Given the description of an element on the screen output the (x, y) to click on. 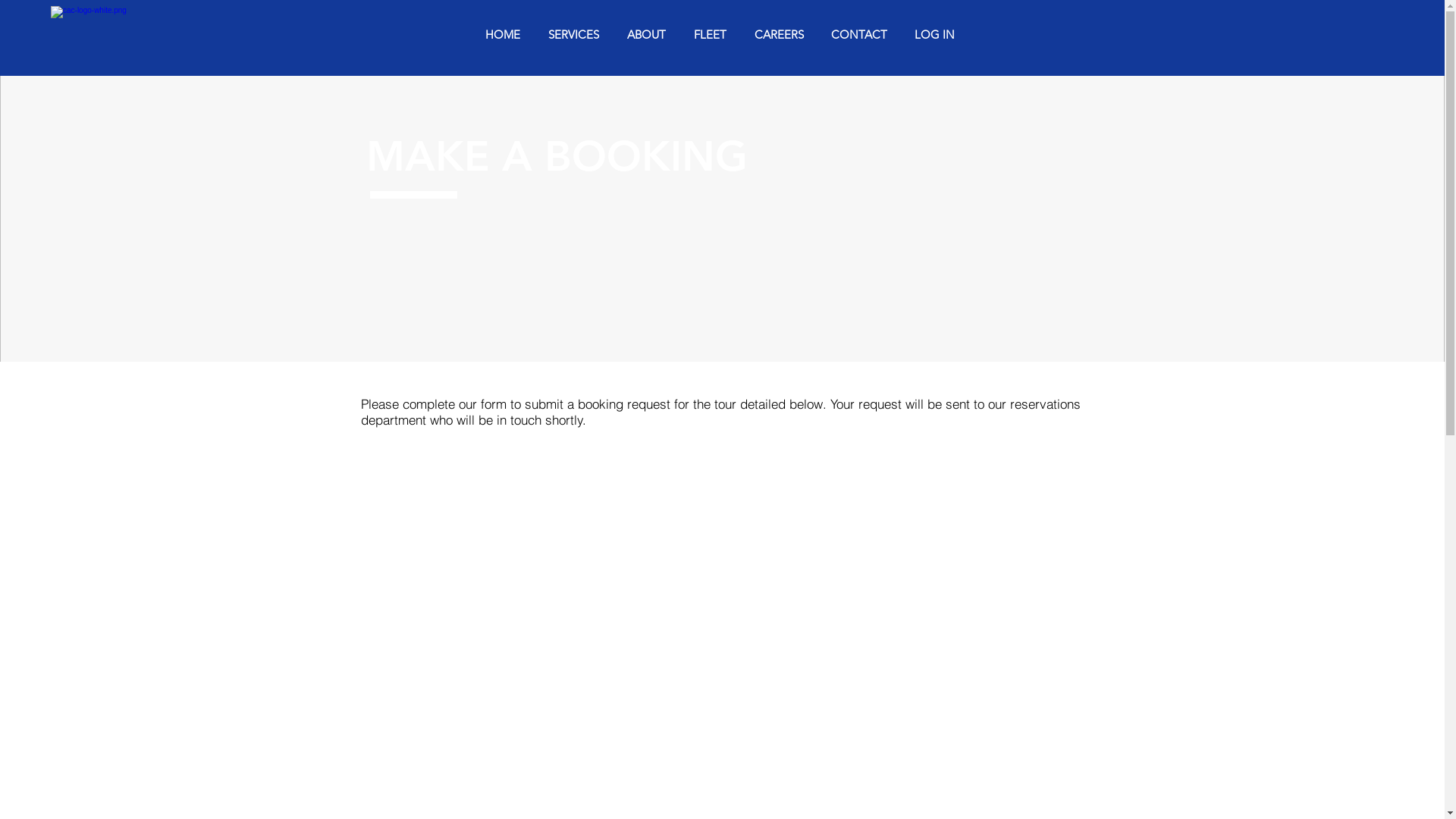
FLEET Element type: text (709, 34)
ABOUT Element type: text (645, 34)
LOG IN Element type: text (934, 34)
CAREERS Element type: text (778, 34)
HOME Element type: text (501, 34)
CONTACT Element type: text (858, 34)
SERVICES Element type: text (572, 34)
